Given the description of an element on the screen output the (x, y) to click on. 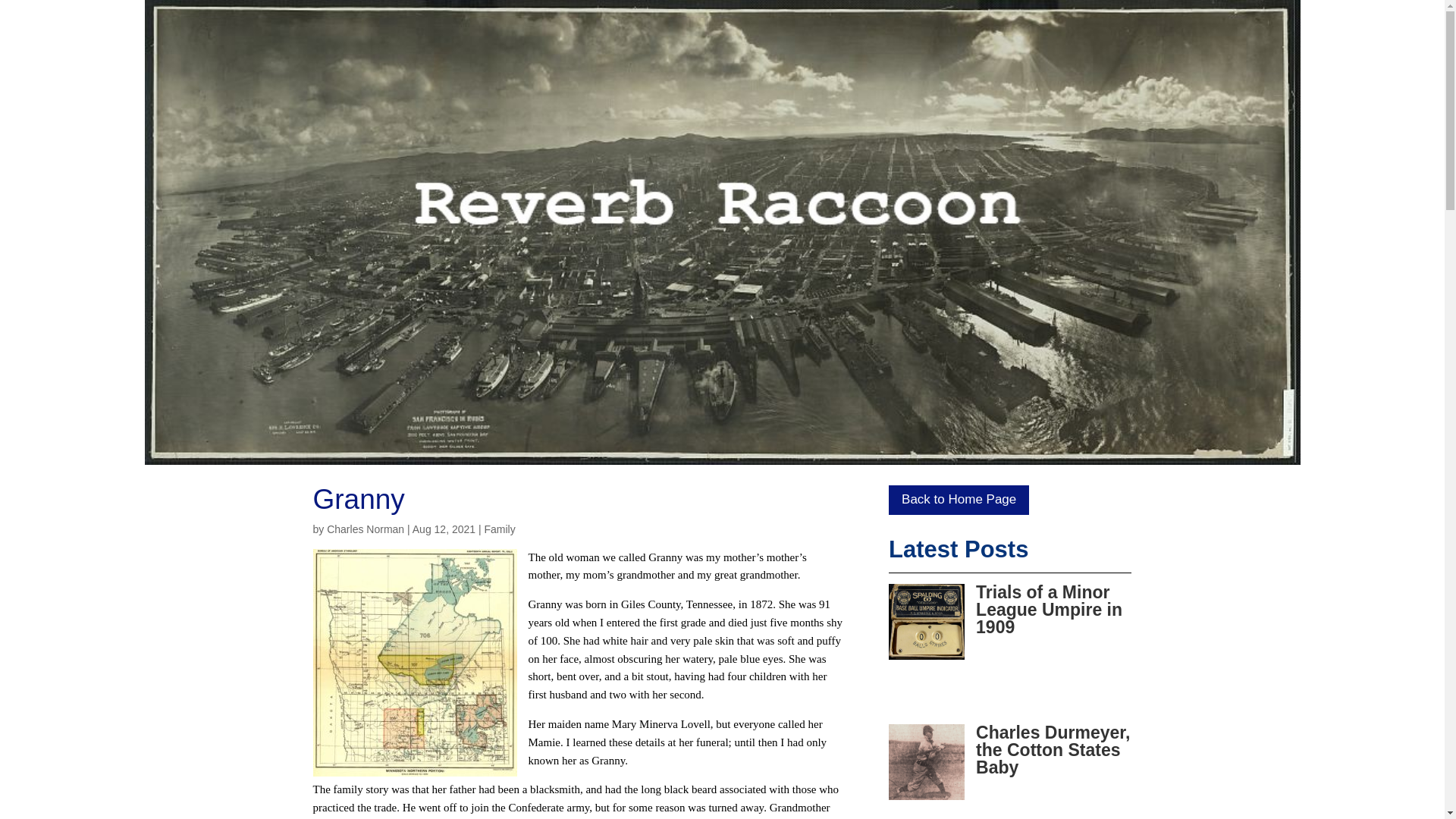
Back to Home Page (958, 500)
Charles Durmeyer, the Cotton States Baby (1052, 749)
Charles Norman (365, 529)
Trials of a Minor League Umpire in 1909 (1048, 609)
Family (499, 529)
Posts by Charles Norman (365, 529)
